Given the description of an element on the screen output the (x, y) to click on. 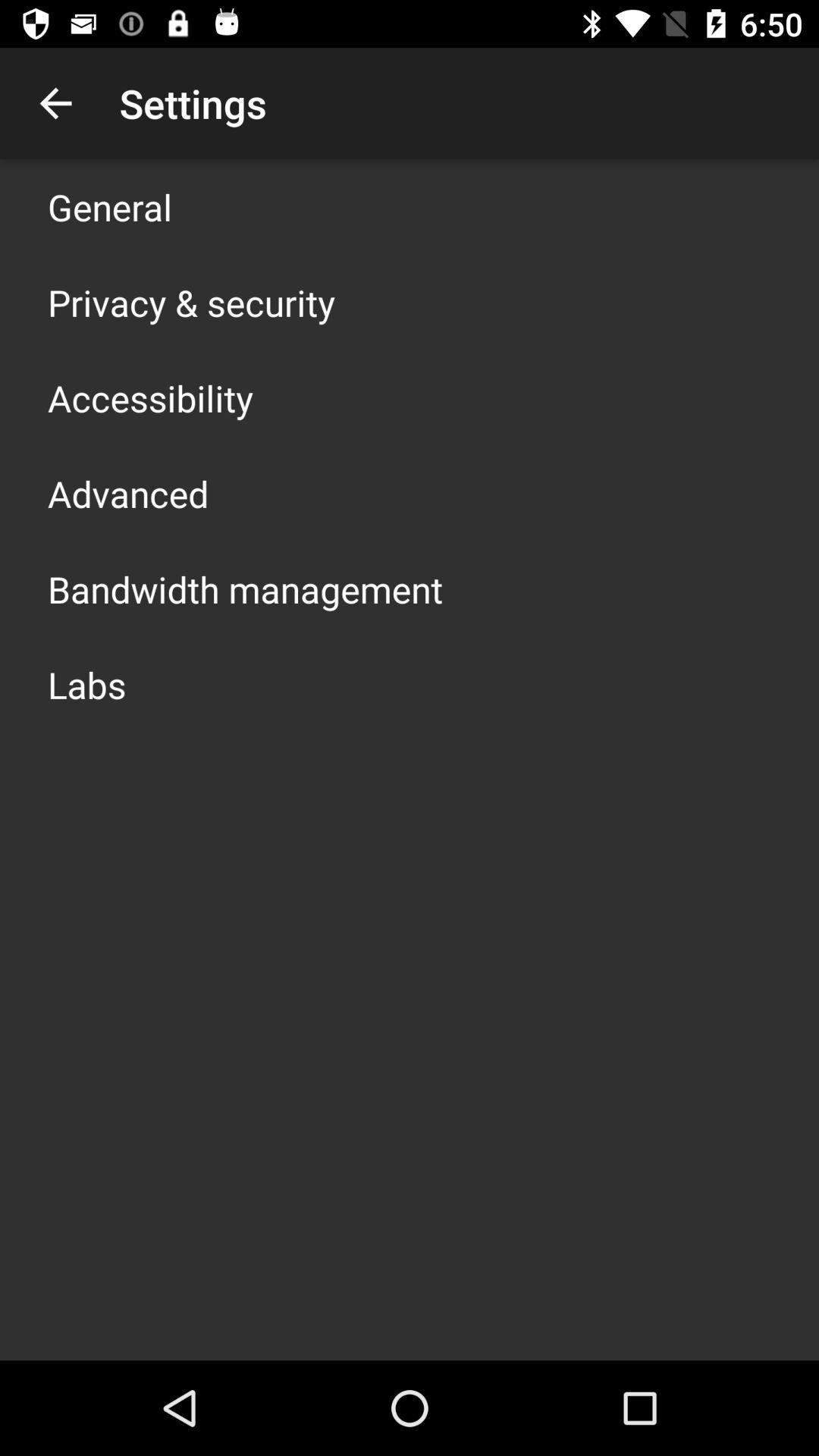
open icon above bandwidth management item (127, 493)
